Given the description of an element on the screen output the (x, y) to click on. 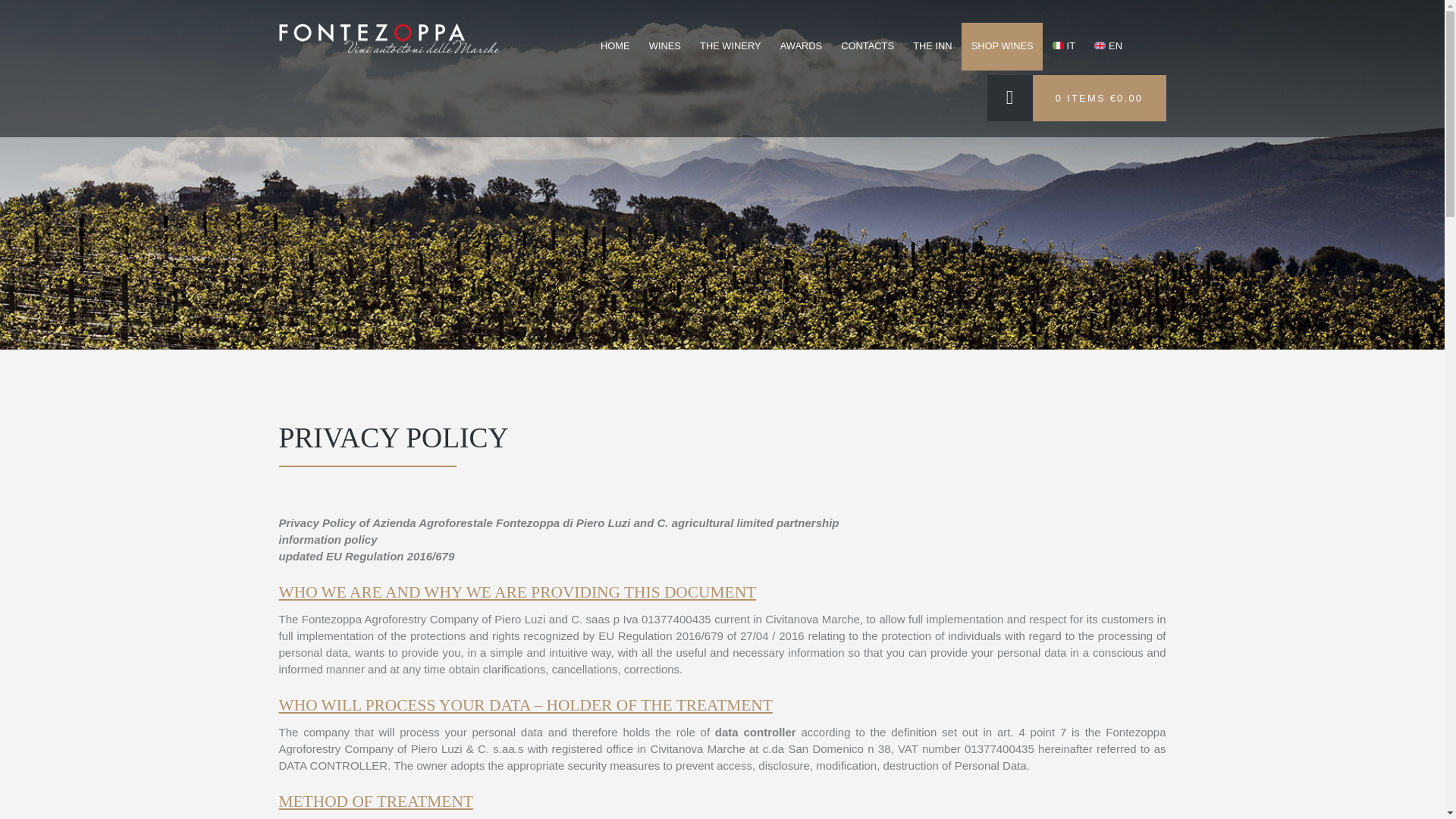
THE INN (933, 46)
HOME (615, 46)
IT (1063, 46)
EN (1108, 46)
THE WINERY (730, 46)
WINES (664, 46)
AWARDS (800, 46)
SHOP WINES (1001, 46)
CONTACTS (867, 46)
IT (1063, 46)
EN (1108, 46)
